Given the description of an element on the screen output the (x, y) to click on. 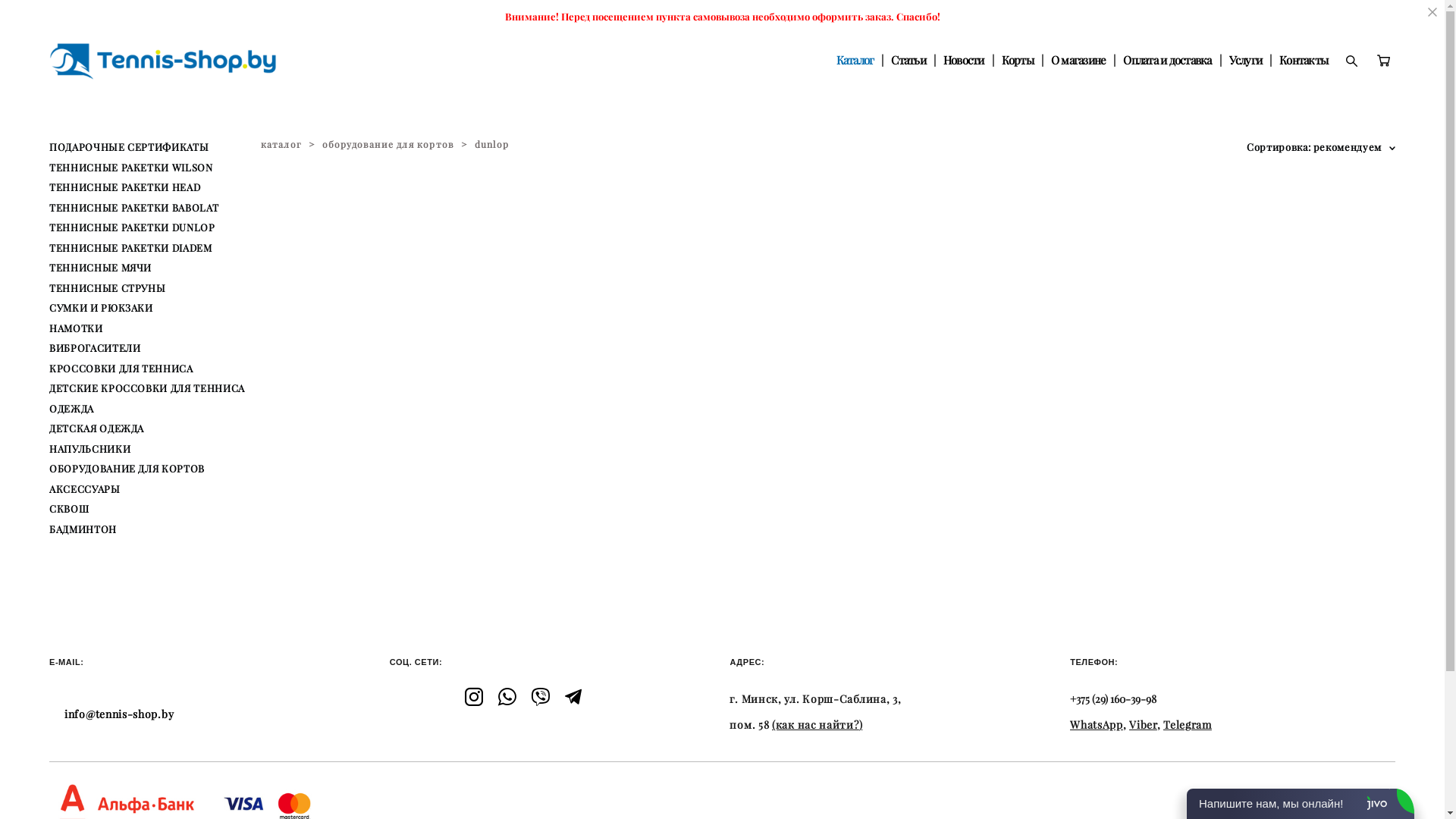
+375 (29) 160-39-98 Element type: text (1113, 699)
WhatsApp Element type: text (1096, 724)
Viber Element type: text (1143, 724)
Telegram Element type: text (1187, 724)
info@tennis-shop.by Element type: text (118, 714)
TENNIS-SHOP.BY Element type: hover (162, 60)
